Given the description of an element on the screen output the (x, y) to click on. 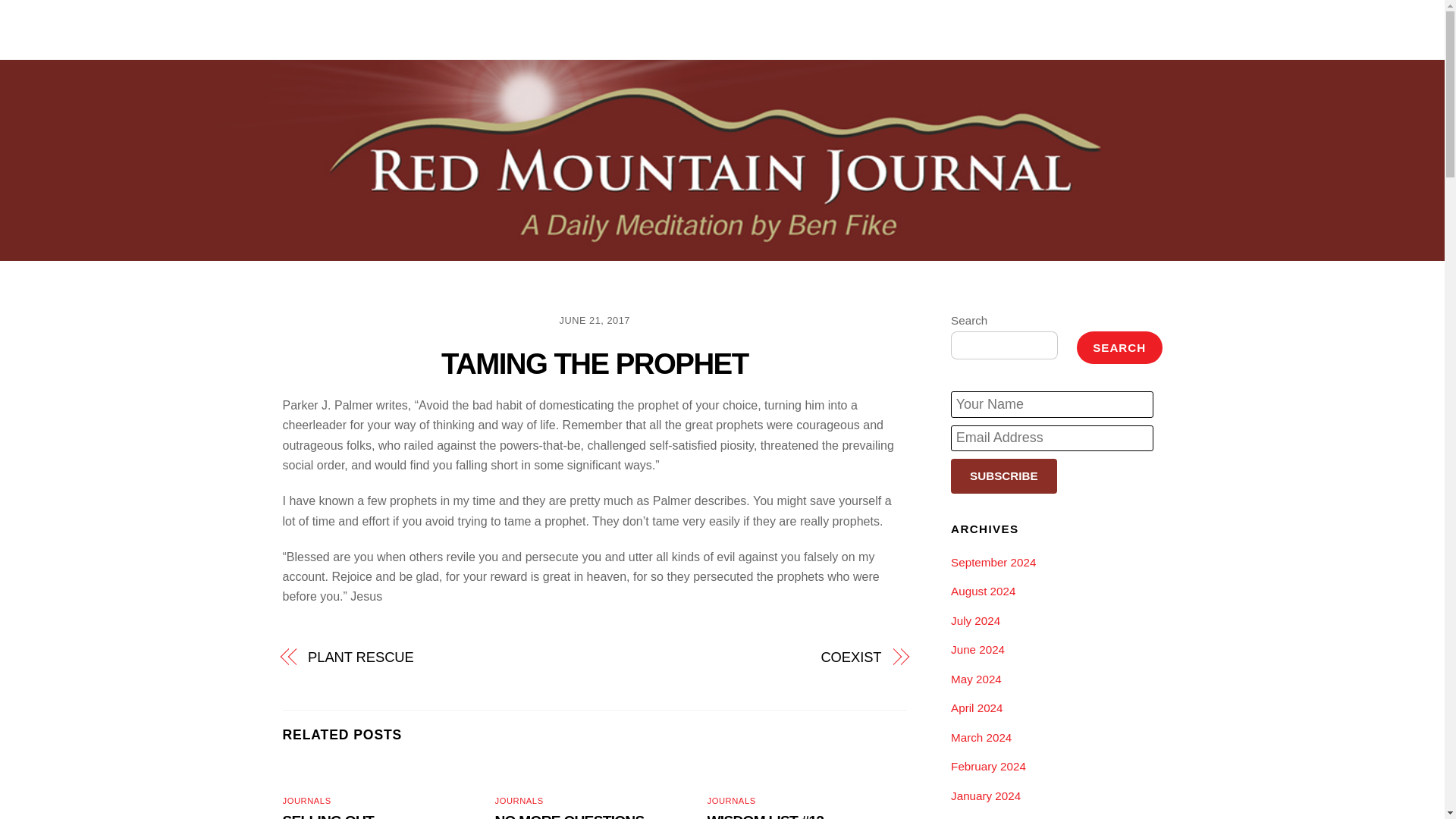
May 2024 (975, 678)
February 2024 (988, 766)
About Us (953, 29)
Home (894, 29)
July 2024 (975, 620)
PLANT RESCUE (441, 657)
April 2024 (976, 707)
March 2024 (980, 737)
SUBSCRIBE (1003, 475)
